Given the description of an element on the screen output the (x, y) to click on. 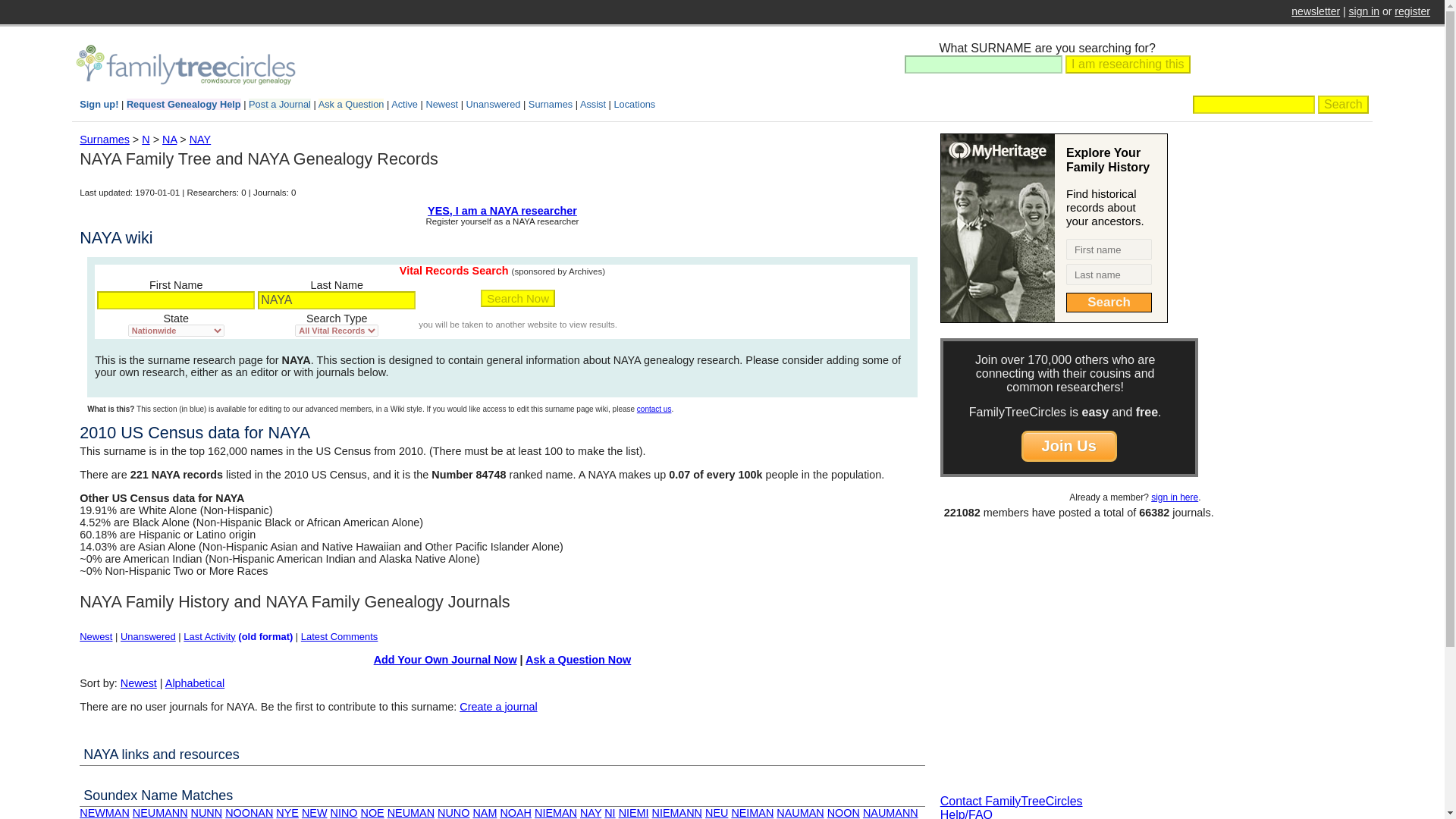
Alphabetical (194, 683)
Last Activity (208, 636)
Newest (138, 683)
NUNN (206, 812)
YES, I am a NAYA researcher (502, 210)
Search Now (517, 298)
Search (1342, 104)
NAY (200, 139)
register (1411, 10)
newsletter (1315, 10)
